Given the description of an element on the screen output the (x, y) to click on. 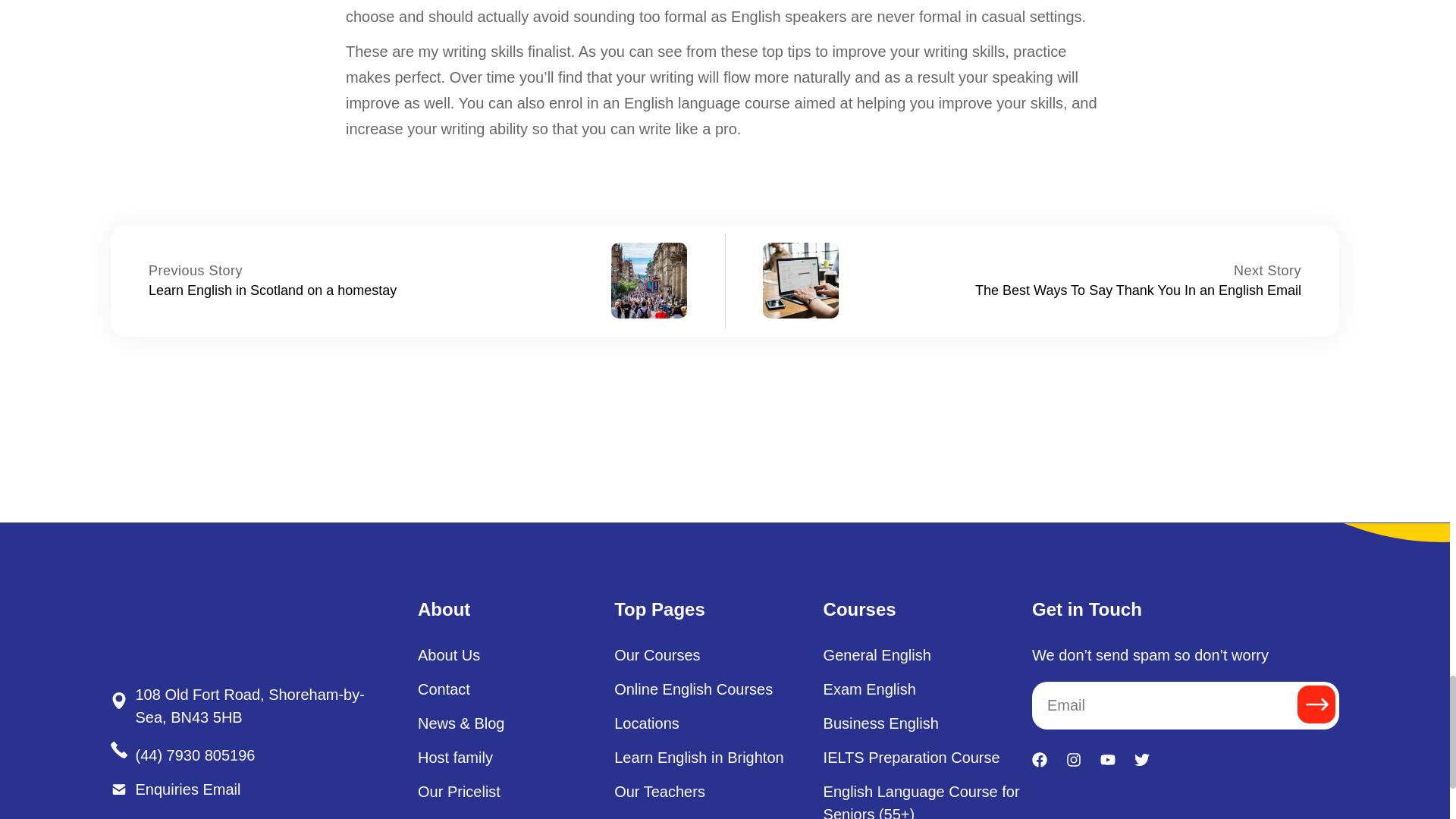
The Best Ways To Say Thank You In an English Email (1267, 270)
Learn English in Scotland on a homestay (195, 270)
Learn English in Scotland on a homestay (272, 290)
The Best Ways To Say Thank You In an English Email (1138, 290)
